Given the description of an element on the screen output the (x, y) to click on. 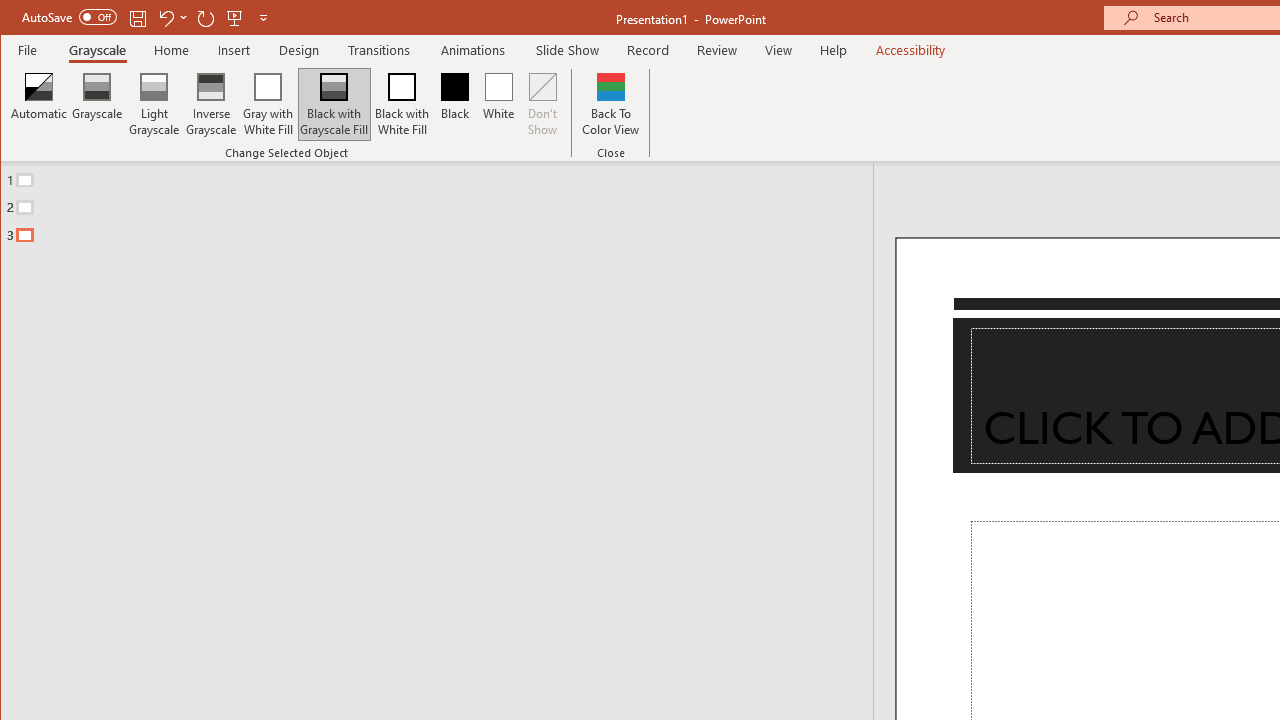
White (498, 104)
Automatic (39, 104)
Black with Grayscale Fill (334, 104)
Black with White Fill (402, 104)
Outline (445, 203)
Back To Color View (610, 104)
Black (454, 104)
